Given the description of an element on the screen output the (x, y) to click on. 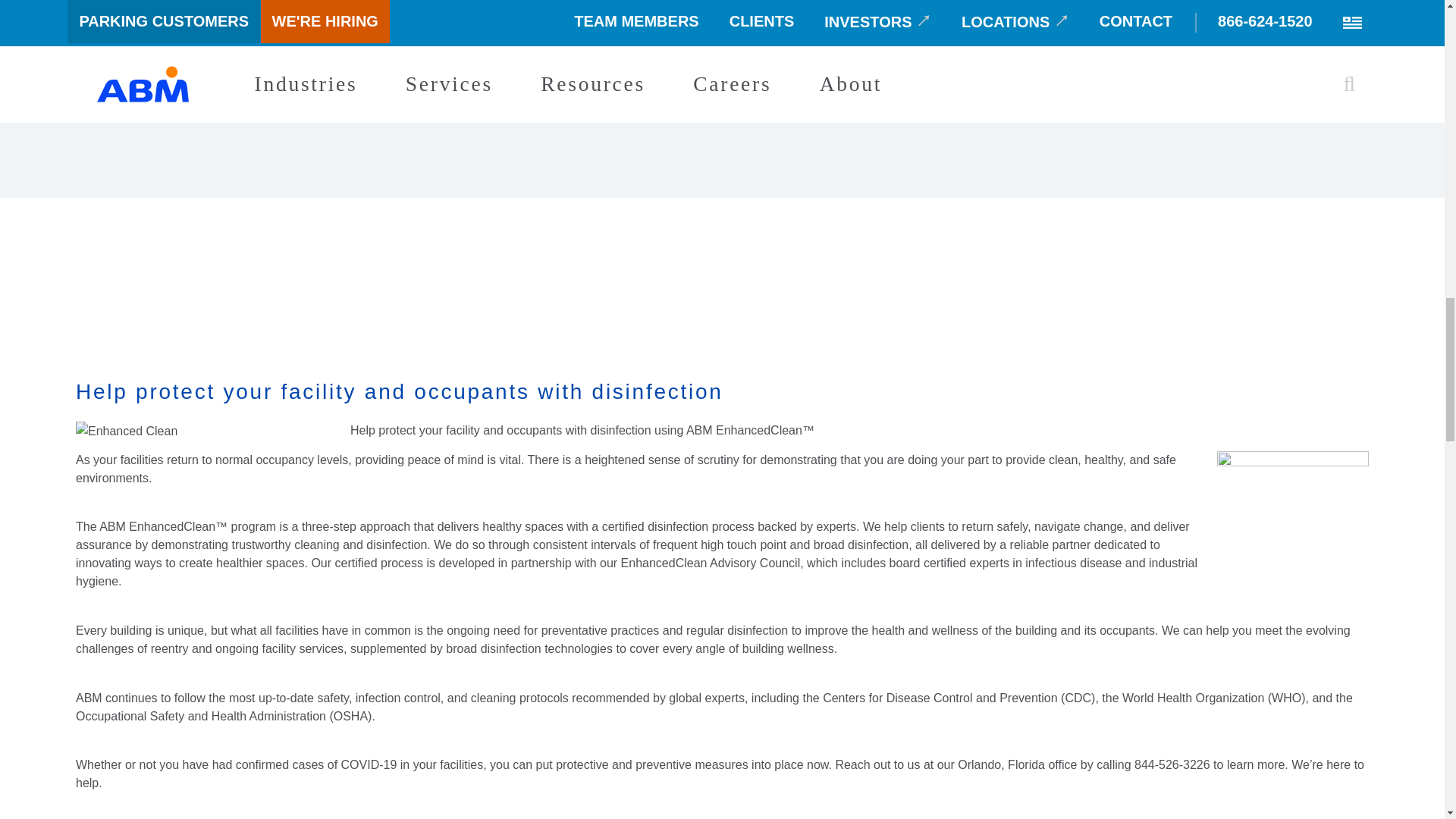
Electrical Solutions in Orlando, FL (126, 33)
Facilities Engineering Services in Orlando, FL (158, 64)
Janitorial Services in Orlando, FL (977, 64)
Energy Solutions in Orlando, FL (548, 33)
